Given the description of an element on the screen output the (x, y) to click on. 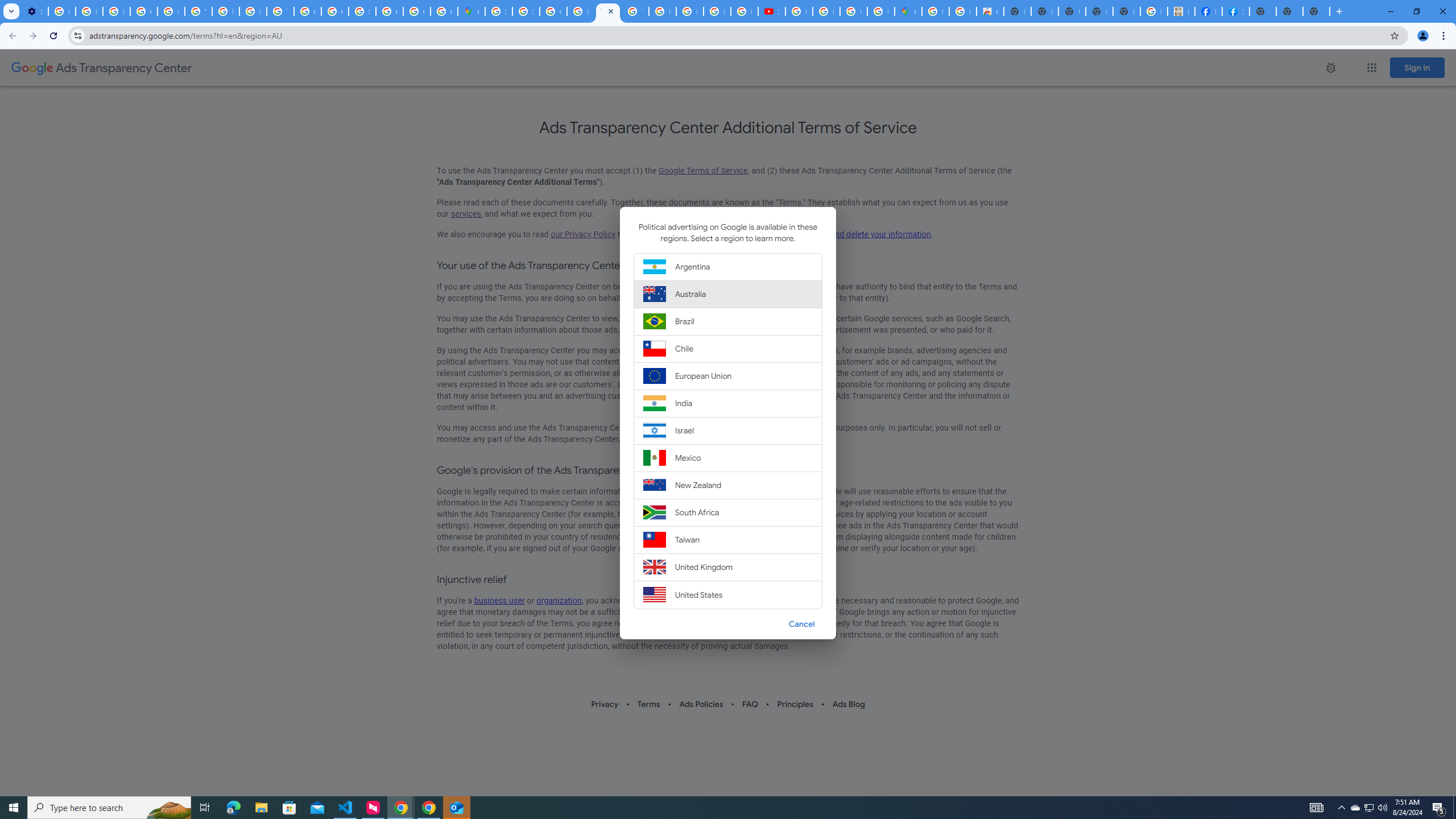
To get missing image descriptions, open the context menu. (1330, 67)
European Union (727, 375)
Sign in - Google Accounts (525, 11)
India (727, 403)
Chile (727, 348)
MILEY CYRUS. (1180, 11)
United Kingdom (727, 567)
New Tab (1262, 11)
Subscriptions - YouTube (771, 11)
